Given the description of an element on the screen output the (x, y) to click on. 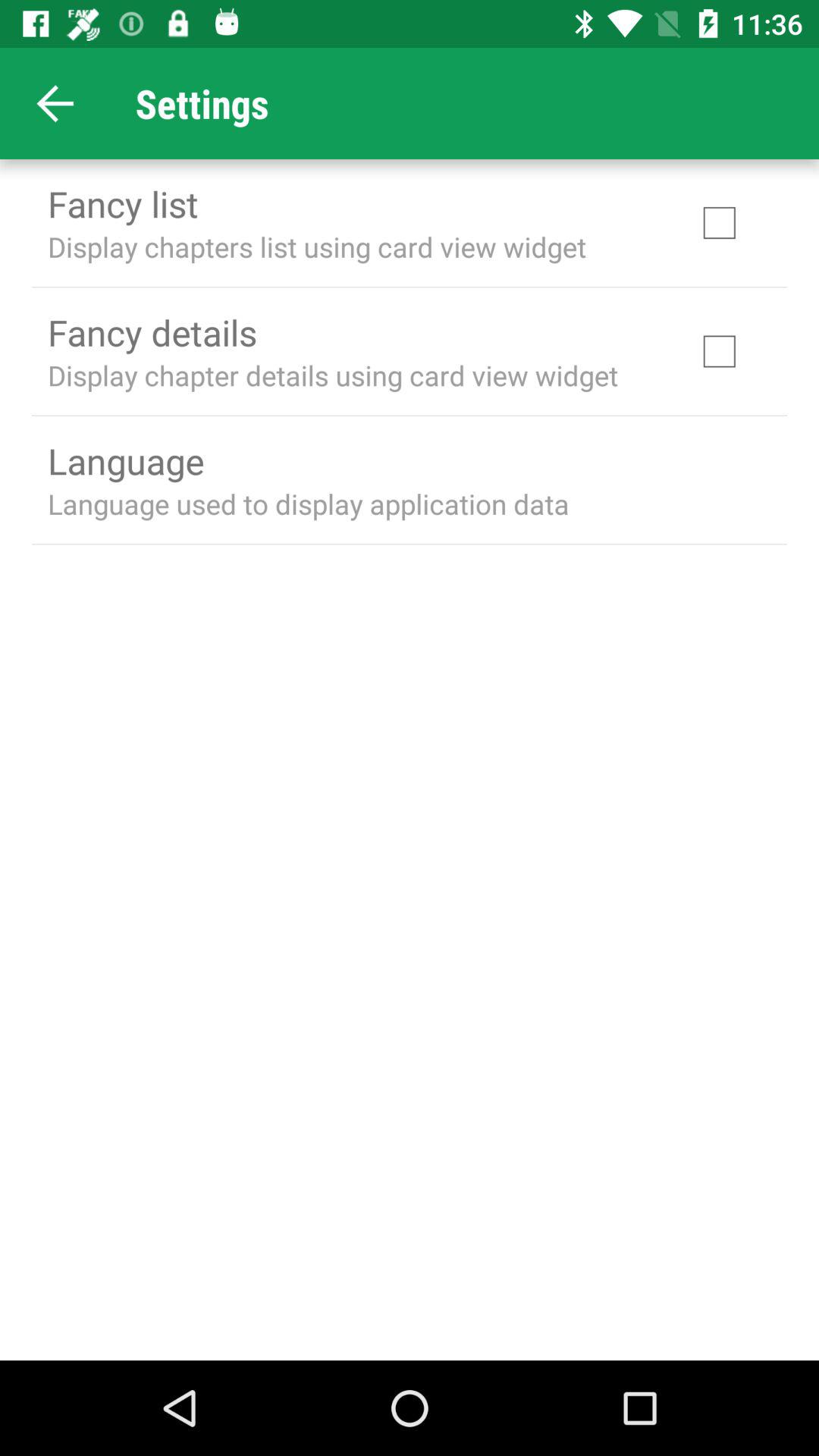
turn on fancy list item (122, 203)
